Given the description of an element on the screen output the (x, y) to click on. 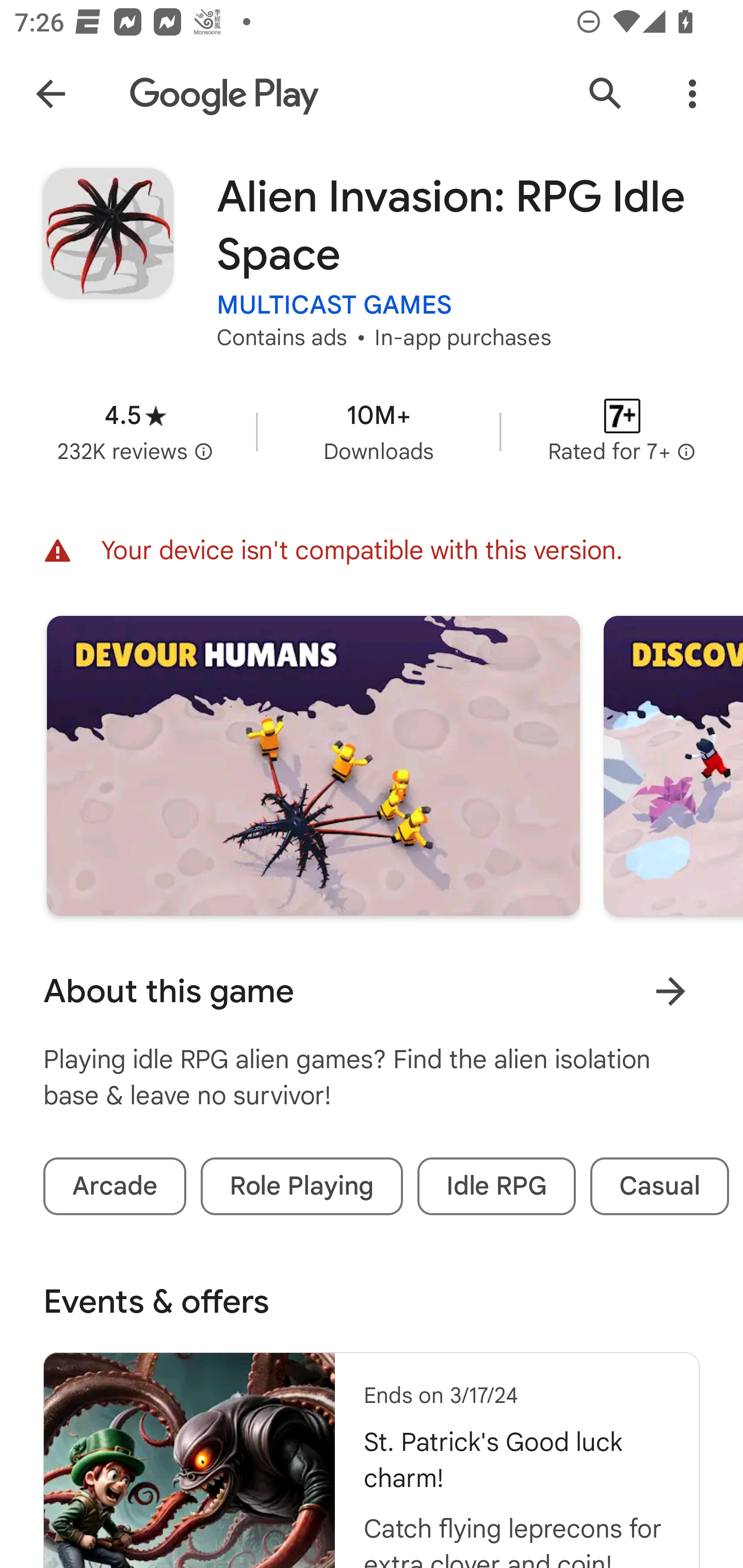
Navigate up (50, 93)
Search Google Play (605, 93)
More Options (692, 93)
MULTICAST GAMES (333, 304)
Average rating 4.5 stars in 232 thousand reviews (135, 431)
Content rating Rated for 7+ (622, 431)
Screenshot "1" of "6" (313, 765)
About this game Learn more About this game (371, 990)
Learn more About this game (670, 991)
Arcade tag (114, 1186)
Role Playing tag (301, 1186)
Idle RPG tag (496, 1186)
Casual tag (658, 1186)
